Given the description of an element on the screen output the (x, y) to click on. 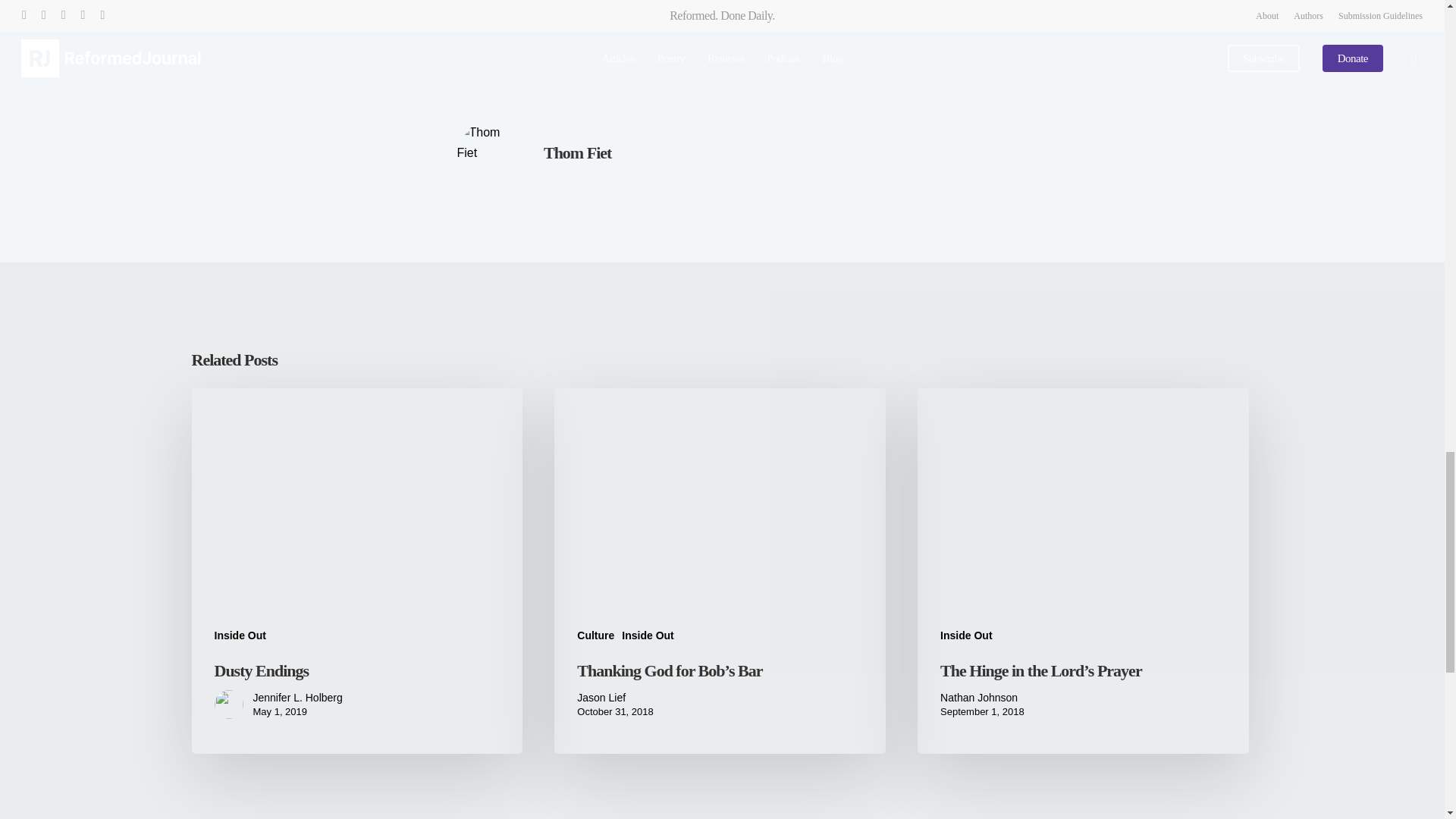
Jennifer L. Holberg (297, 697)
Jason Lief (614, 697)
Culture (595, 635)
Inside Out (965, 635)
Inside Out (646, 635)
Inside Out (239, 635)
Thom Fiet (577, 152)
